Given the description of an element on the screen output the (x, y) to click on. 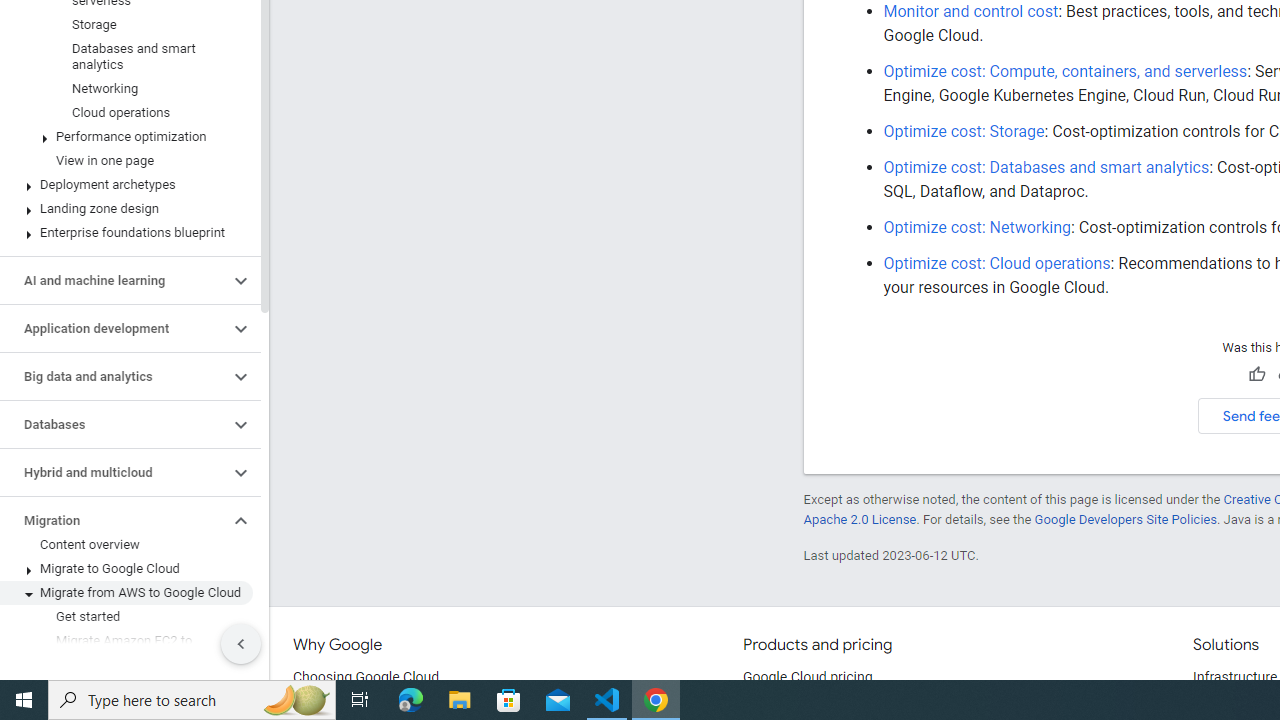
Optimize cost: Storage (963, 131)
Monitor and control cost (970, 11)
Migrate to Google Cloud (126, 569)
Networking (126, 88)
